Given the description of an element on the screen output the (x, y) to click on. 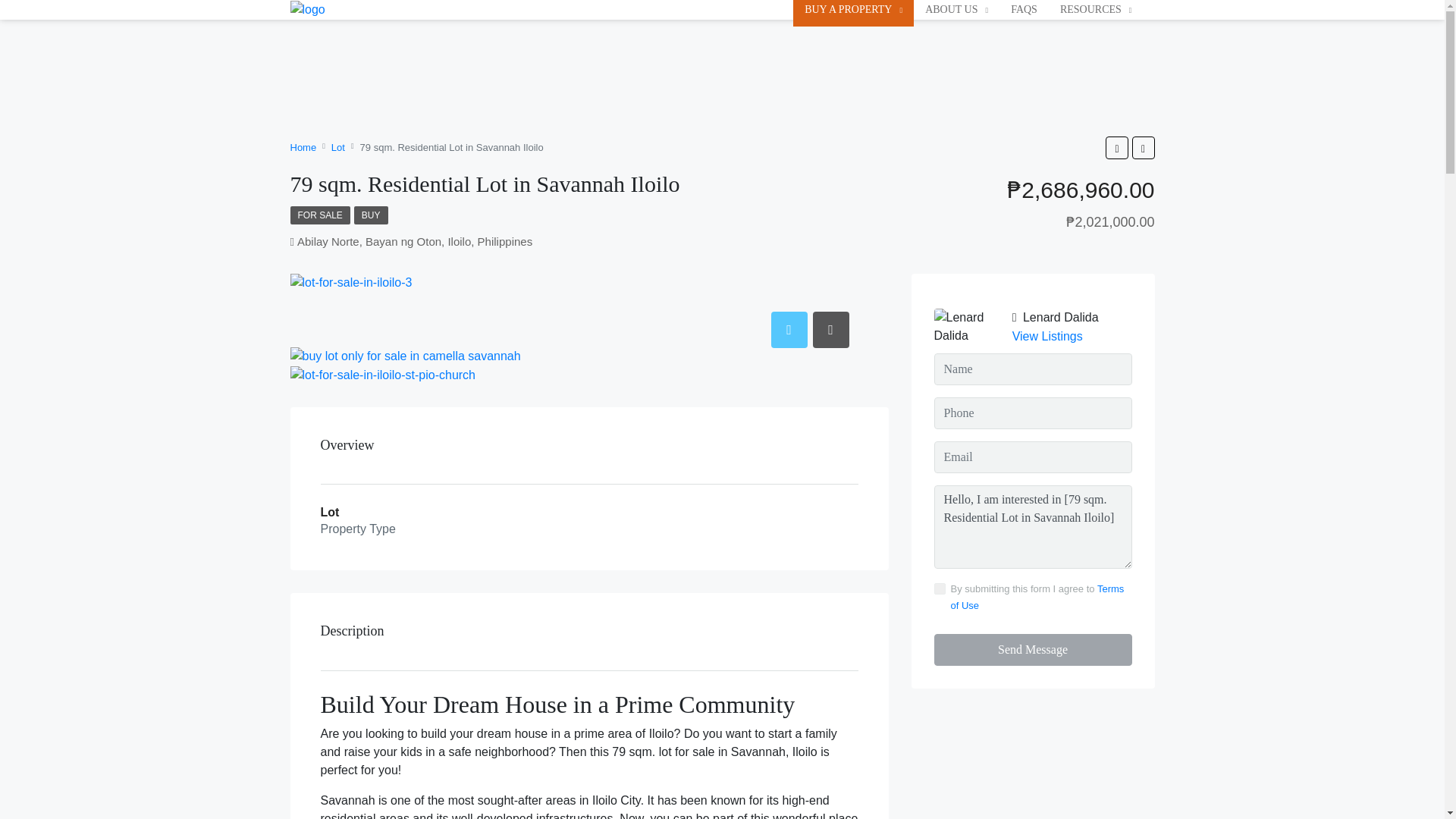
lot-for-sale-in-iloilo-st-pio-church (382, 375)
Lot (338, 147)
FAQS (1023, 9)
Home (302, 147)
lot-for-sale-in-iloilo-savannah-entrance (404, 356)
RESOURCES (1095, 9)
BUY A PROPERTY (853, 9)
lot-for-sale-in-iloilo-3 (350, 282)
ABOUT US (956, 9)
